Given the description of an element on the screen output the (x, y) to click on. 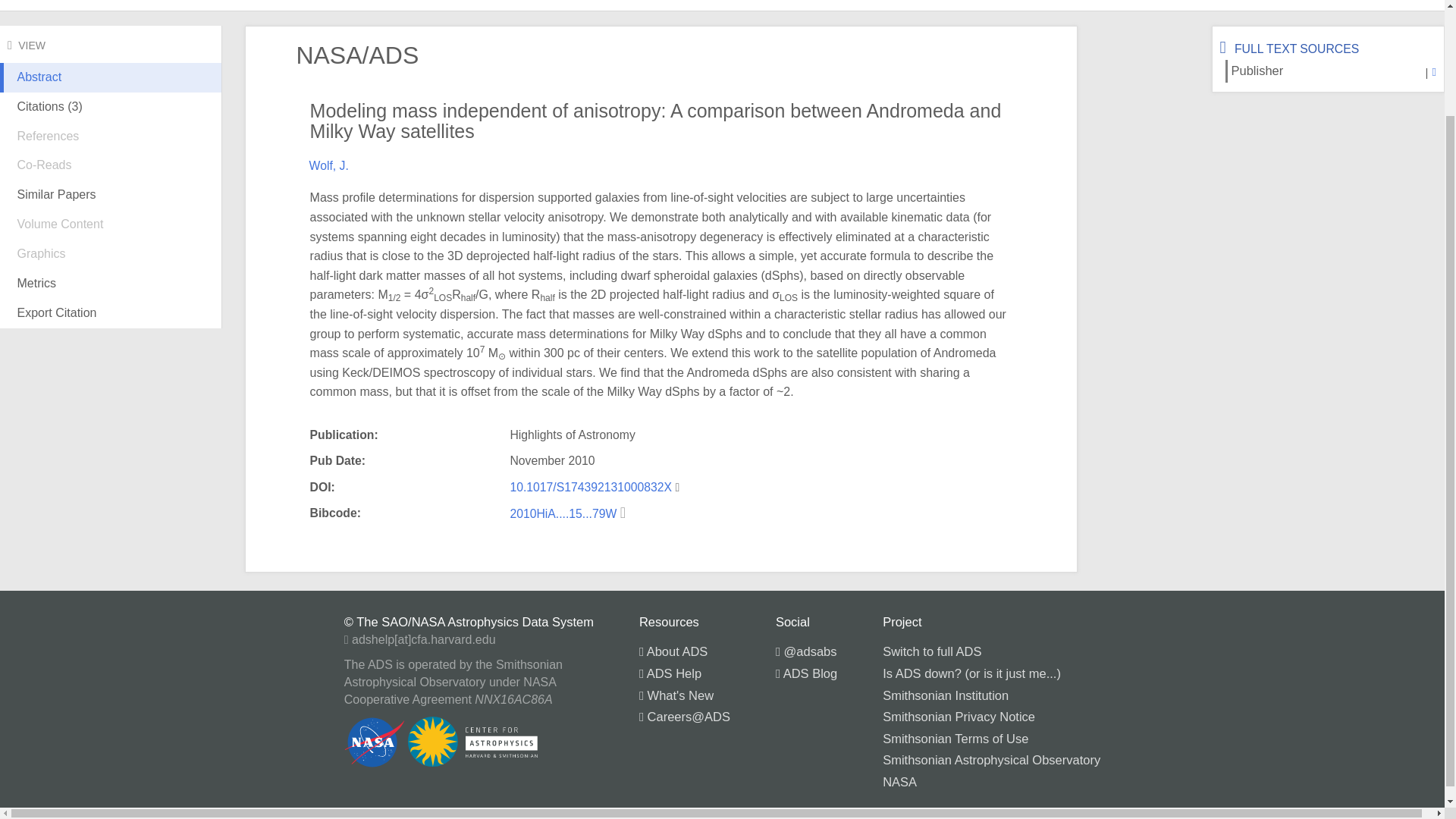
Abstract (110, 89)
ADS Blog (806, 673)
2010HiA....15...79W (564, 513)
What's New (676, 694)
Harvard Center for Astrophysics logo (499, 742)
Export Citation (110, 313)
Metrics (110, 283)
About ADS (673, 651)
Switch to full ADS (931, 651)
Smithsonian Astrophysical Observatory (991, 759)
NASA (899, 781)
Smithsonian Privacy Notice (958, 716)
ADS Help (670, 673)
Smithsonian Terms of Use (954, 738)
Similar Papers (110, 194)
